Given the description of an element on the screen output the (x, y) to click on. 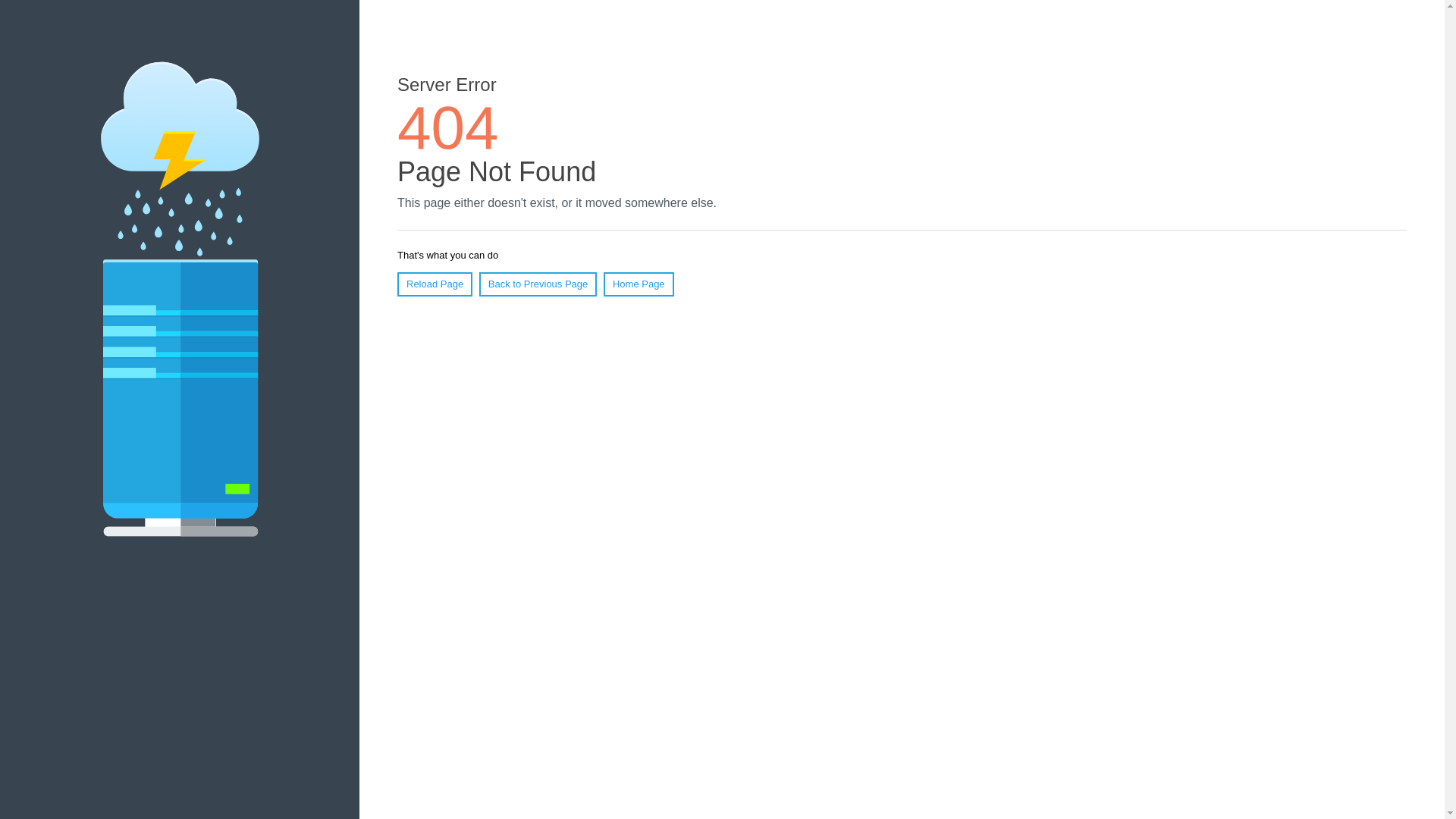
Reload Page Element type: text (434, 284)
Back to Previous Page Element type: text (538, 284)
Home Page Element type: text (638, 284)
